Given the description of an element on the screen output the (x, y) to click on. 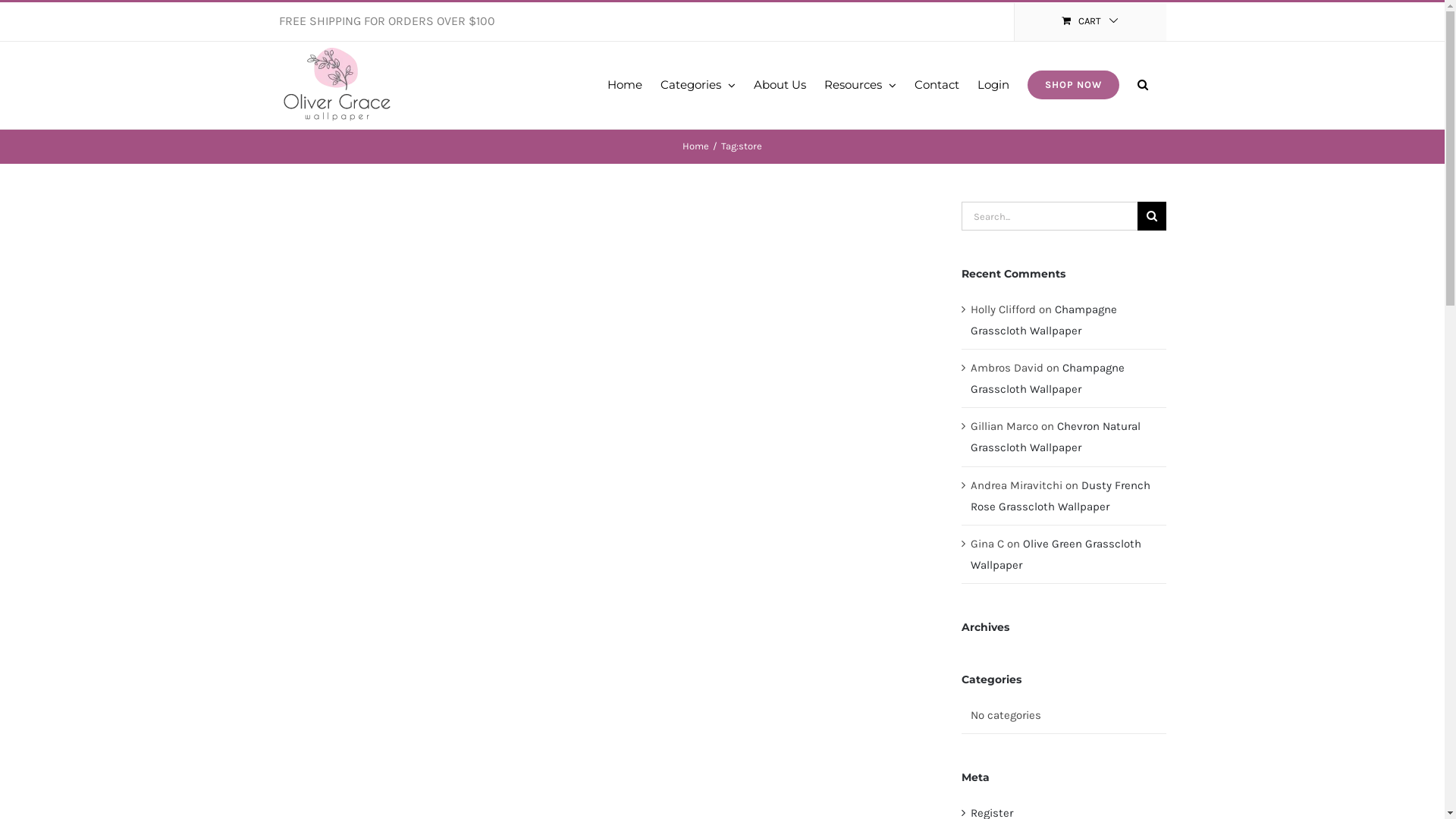
CART Element type: text (1090, 21)
About Us Element type: text (779, 83)
Resources Element type: text (859, 83)
SHOP NOW Element type: text (1072, 83)
Login Element type: text (992, 83)
Champagne Grasscloth Wallpaper Element type: text (1043, 319)
Contact Element type: text (936, 83)
Olive Green Grasscloth Wallpaper Element type: text (1055, 553)
Search Element type: hover (1142, 83)
Home Element type: text (623, 83)
Chevron Natural Grasscloth Wallpaper Element type: text (1055, 436)
Dusty French Rose Grasscloth Wallpaper Element type: text (1060, 494)
Categories Element type: text (696, 83)
Home Element type: text (695, 145)
Champagne Grasscloth Wallpaper Element type: text (1047, 377)
